Given the description of an element on the screen output the (x, y) to click on. 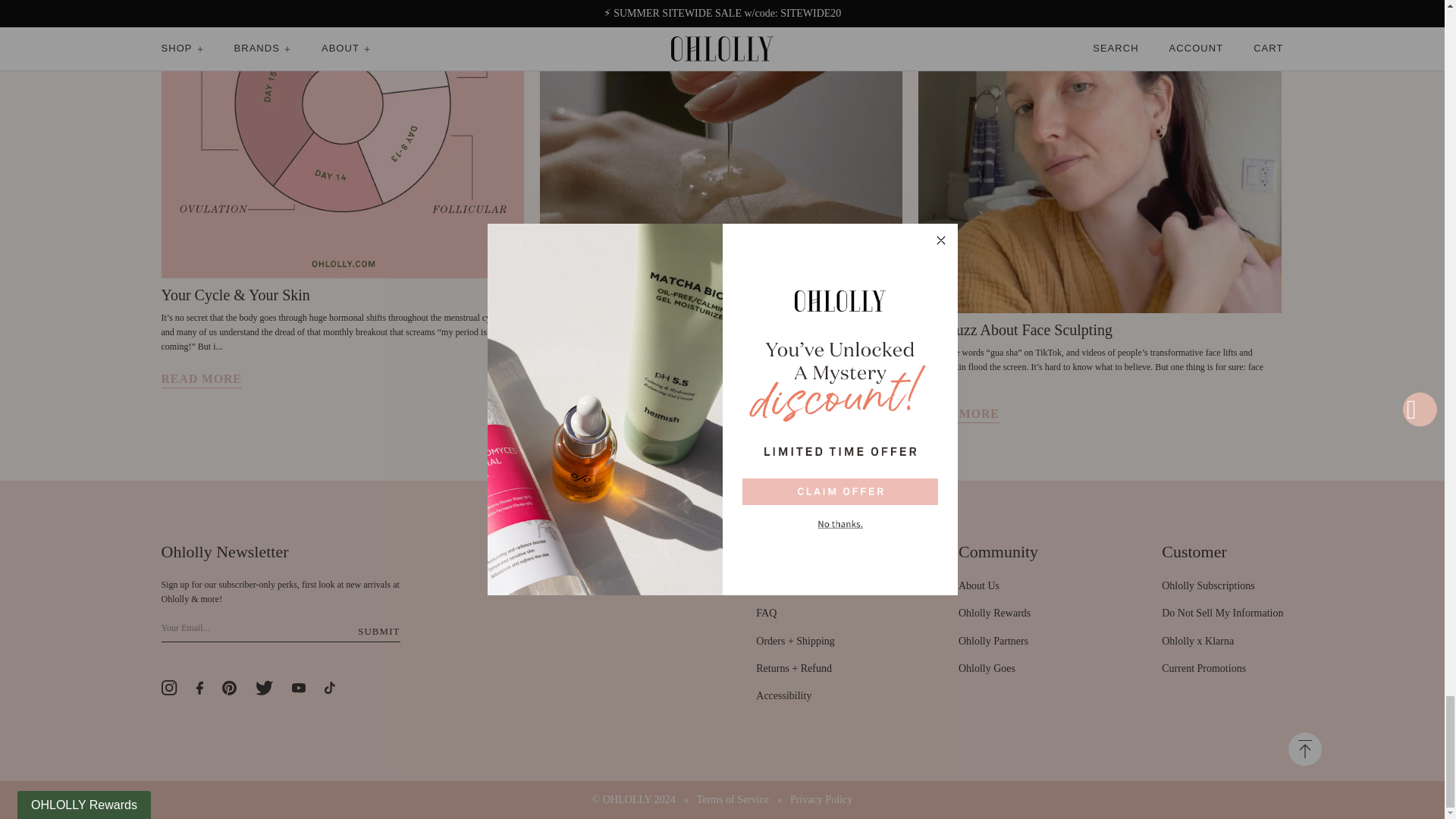
Register (378, 631)
